Given the description of an element on the screen output the (x, y) to click on. 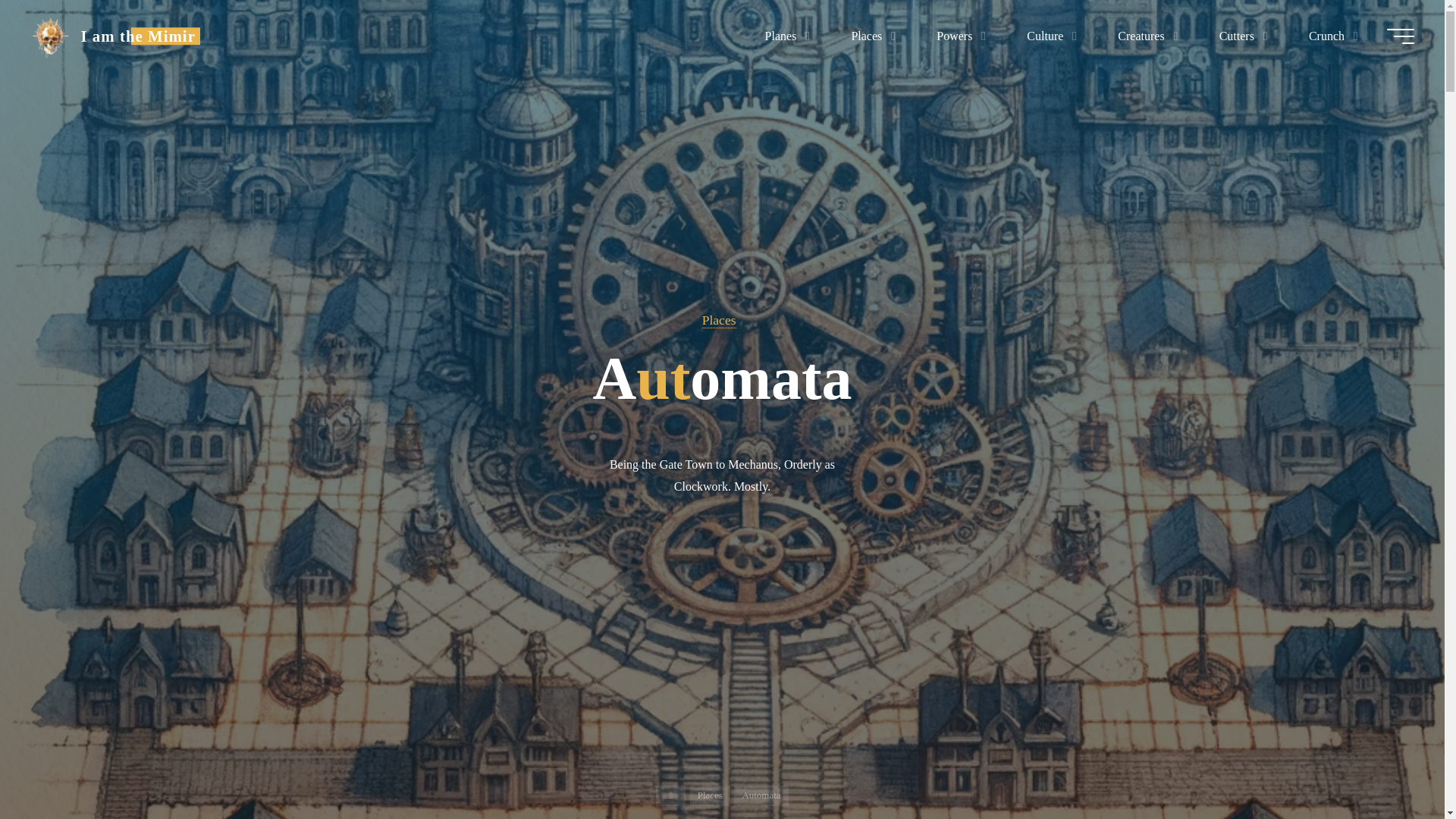
Home (670, 795)
Read more (721, 724)
I am the Mimir (49, 35)
